Given the description of an element on the screen output the (x, y) to click on. 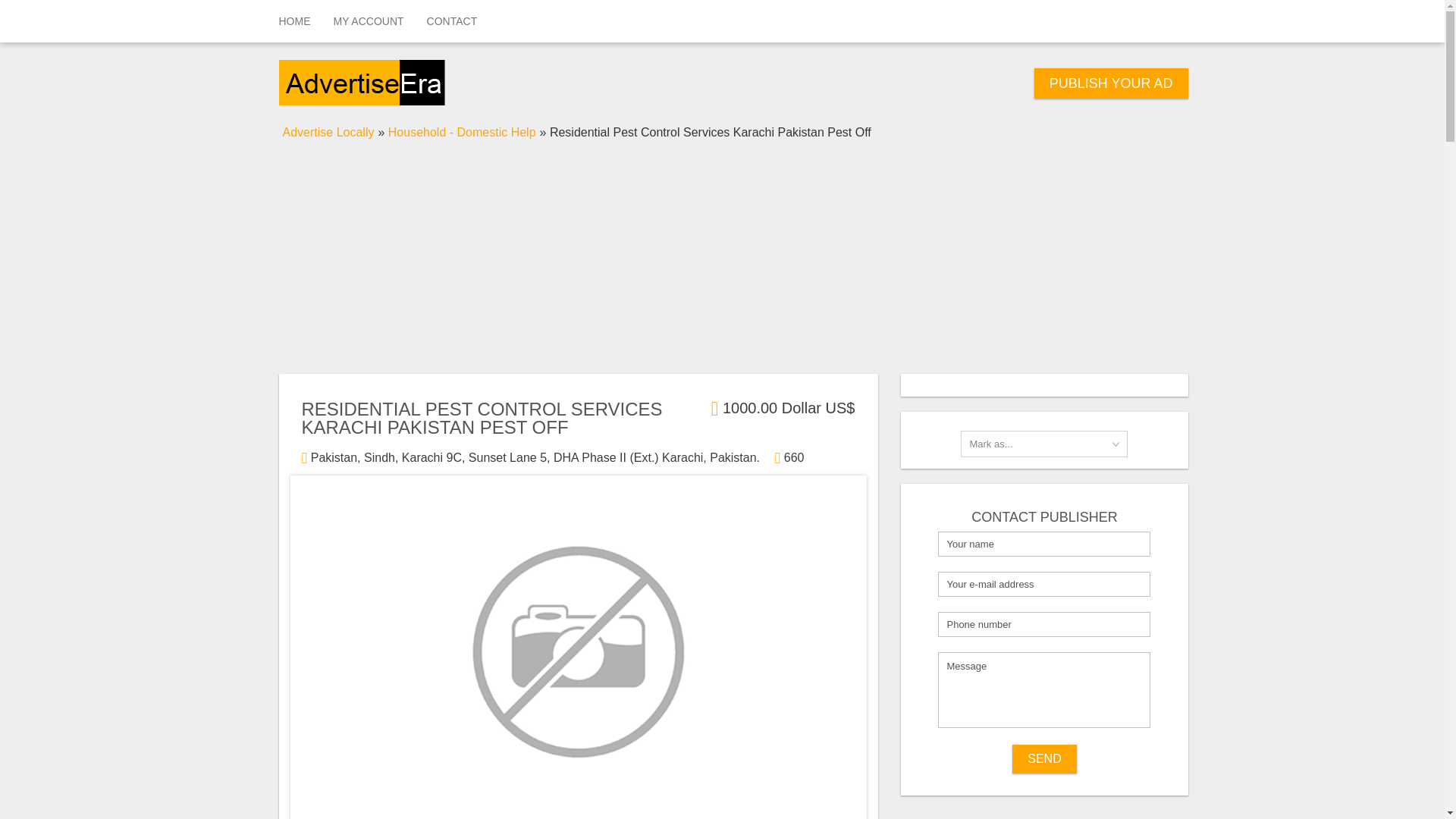
CONTACT (451, 21)
HOME (293, 21)
MY ACCOUNT (367, 21)
PUBLISH YOUR AD (1110, 82)
Household - Domestic Help (461, 132)
Advertise Locally (328, 132)
